Given the description of an element on the screen output the (x, y) to click on. 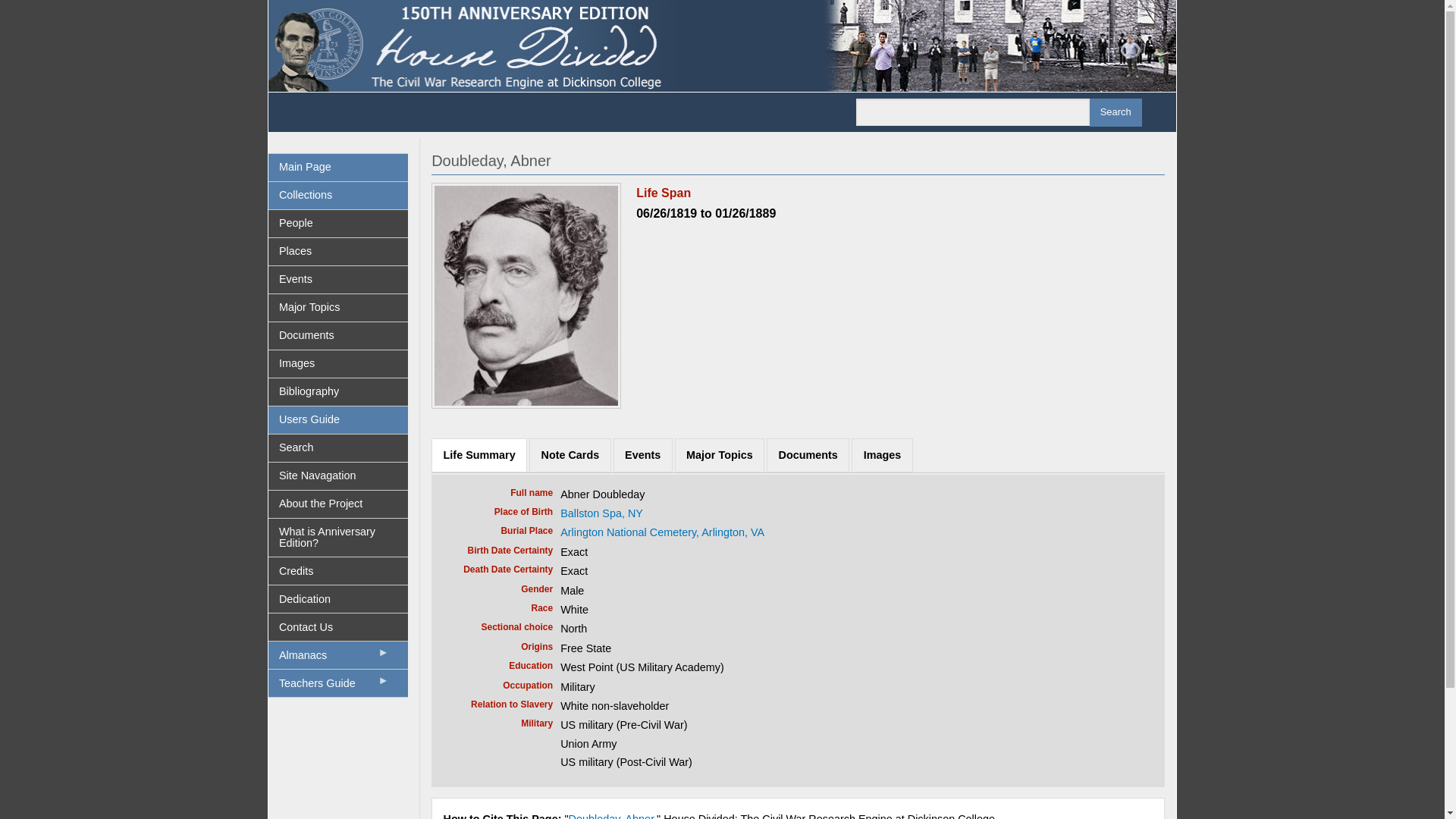
Ballston Spa, NY (601, 512)
Events (338, 279)
Doubleday, Abner (611, 816)
Main Page (338, 166)
Home (721, 44)
Places (338, 251)
Arlington National Cemetery, Arlington, VA (662, 532)
Events (642, 454)
Bibliography (338, 391)
